Given the description of an element on the screen output the (x, y) to click on. 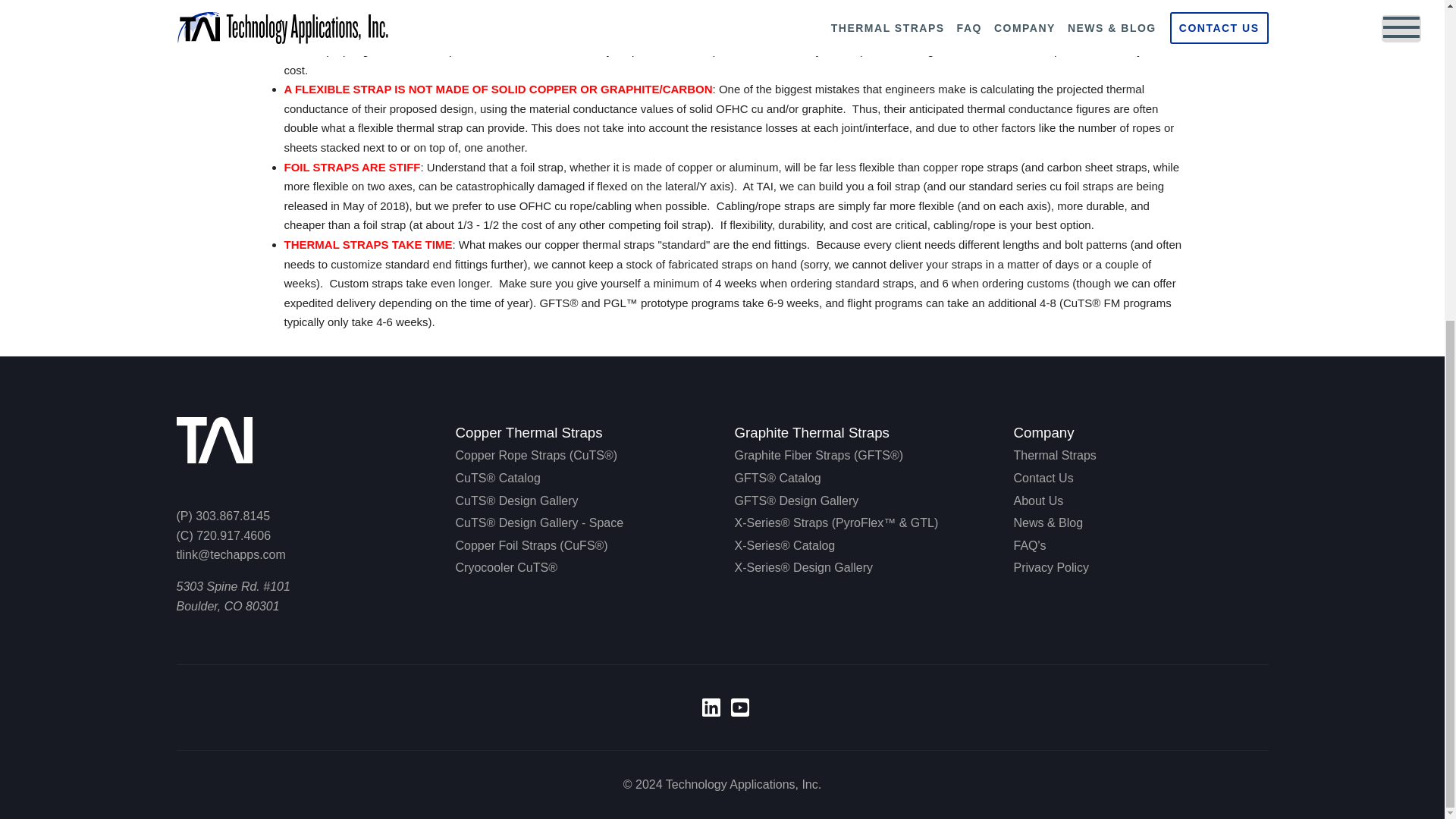
Thermal Straps (1054, 455)
Contact Us (1043, 478)
